Given the description of an element on the screen output the (x, y) to click on. 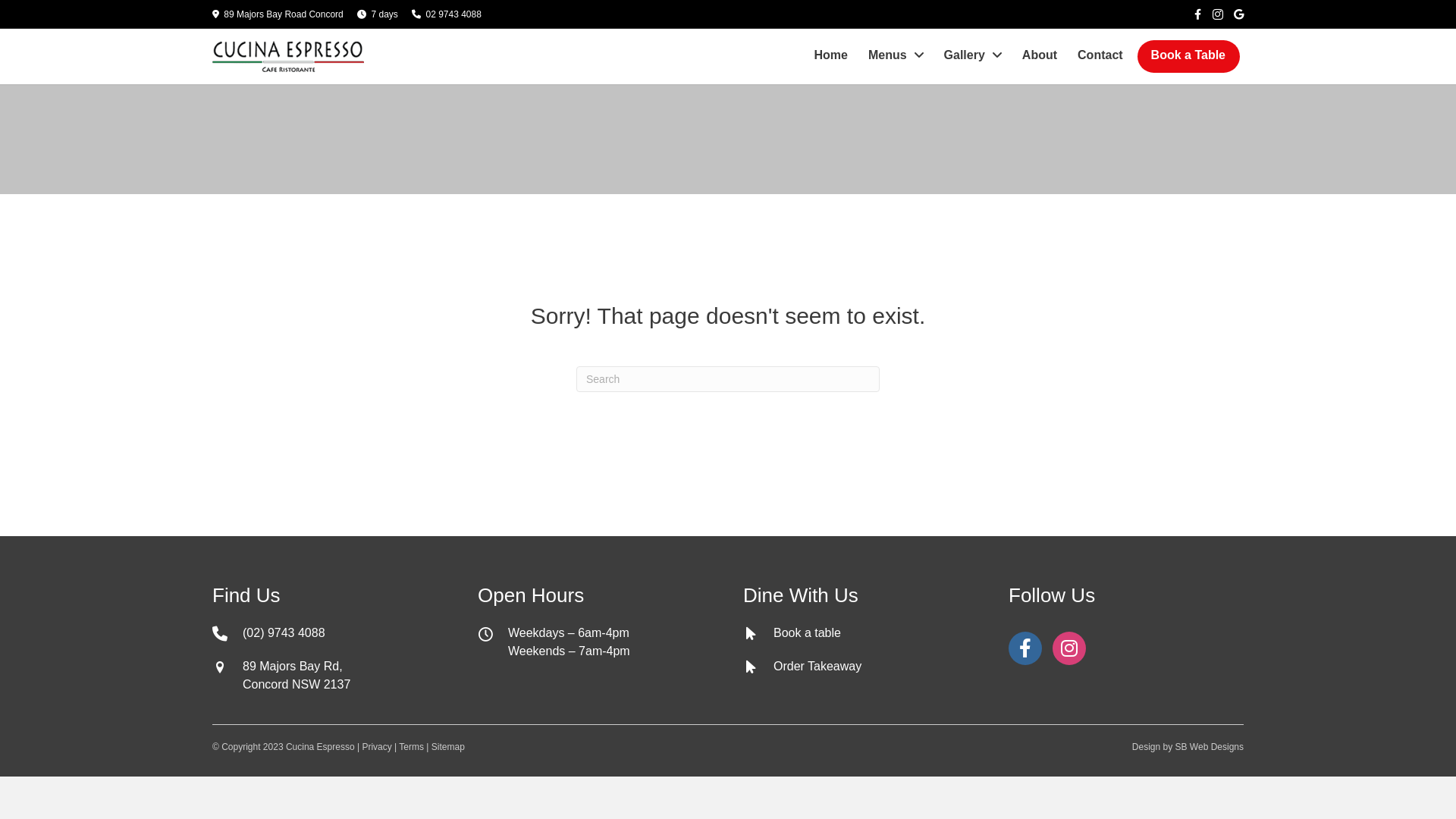
Sitemap Element type: text (447, 746)
Gallery Element type: text (973, 55)
Privacy Element type: text (376, 746)
Cucina Espresso Element type: text (319, 746)
Menus Element type: text (896, 55)
Contact Element type: text (1100, 55)
02 9743 4088 Element type: text (452, 14)
89 Majors Bay Road Concord Element type: text (282, 14)
About Element type: text (1039, 55)
Type and press Enter to search. Element type: hover (727, 379)
Home Element type: text (830, 55)
Terms Element type: text (410, 746)
SB Web Designs Element type: text (1209, 746)
Book a Table Element type: text (1188, 55)
